Given the description of an element on the screen output the (x, y) to click on. 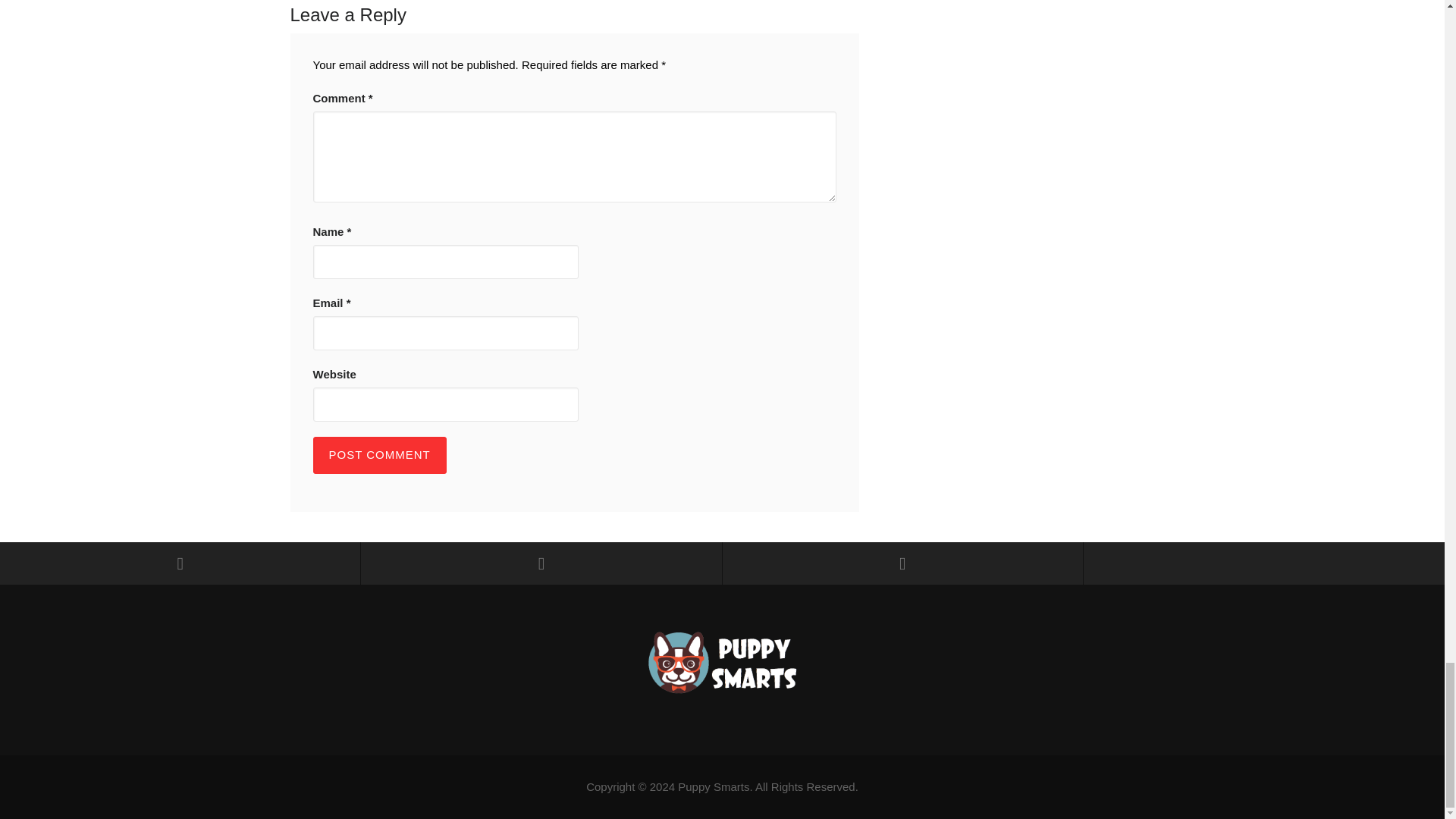
Post Comment (379, 455)
